Given the description of an element on the screen output the (x, y) to click on. 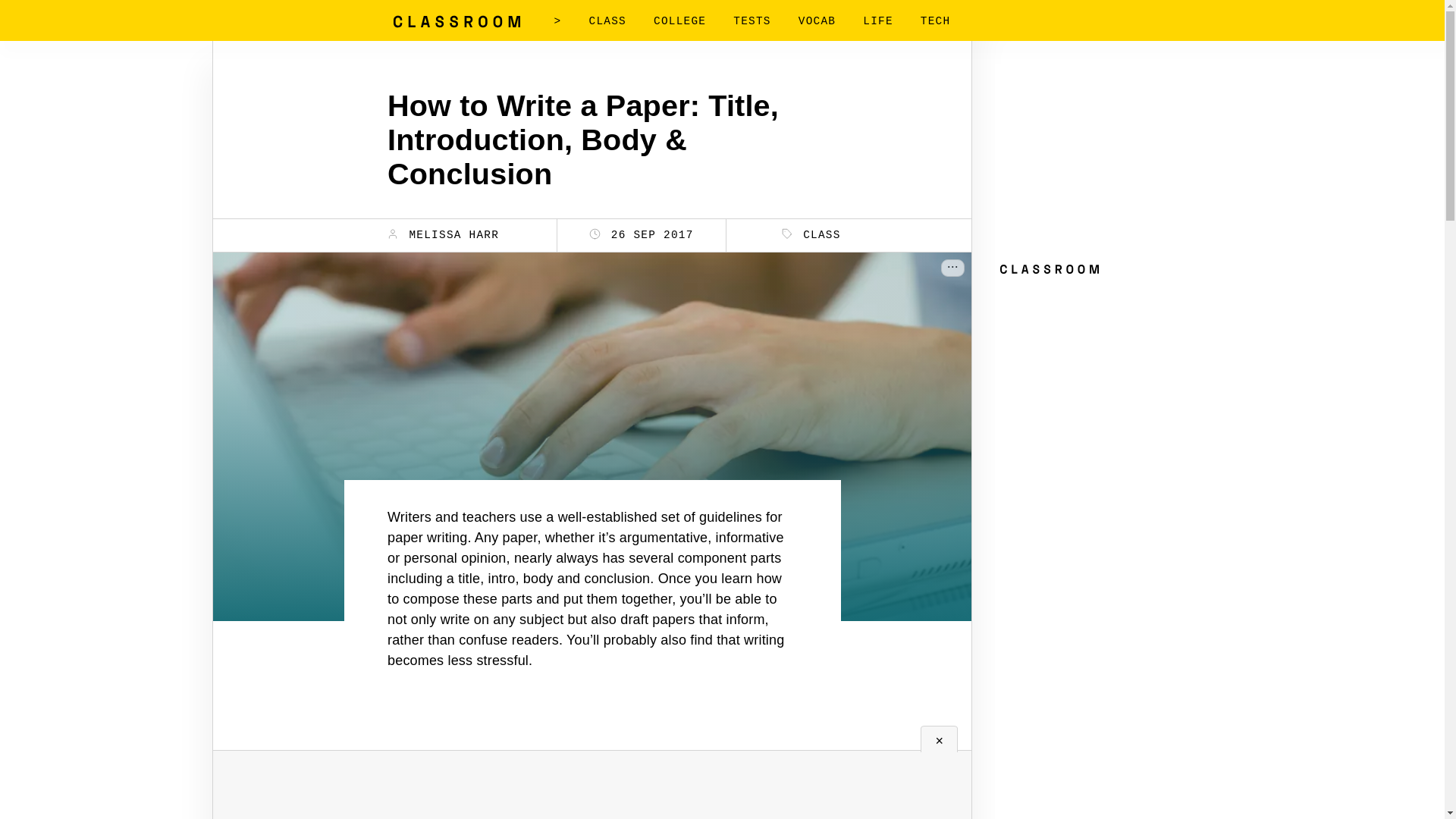
CLASS (607, 21)
CLASS (811, 235)
COLLEGE (679, 21)
3rd party ad content (1108, 158)
TESTS (751, 21)
VOCAB (816, 21)
3rd party ad content (1108, 376)
TECH (935, 21)
3rd party ad content (592, 772)
LIFE (878, 21)
